Given the description of an element on the screen output the (x, y) to click on. 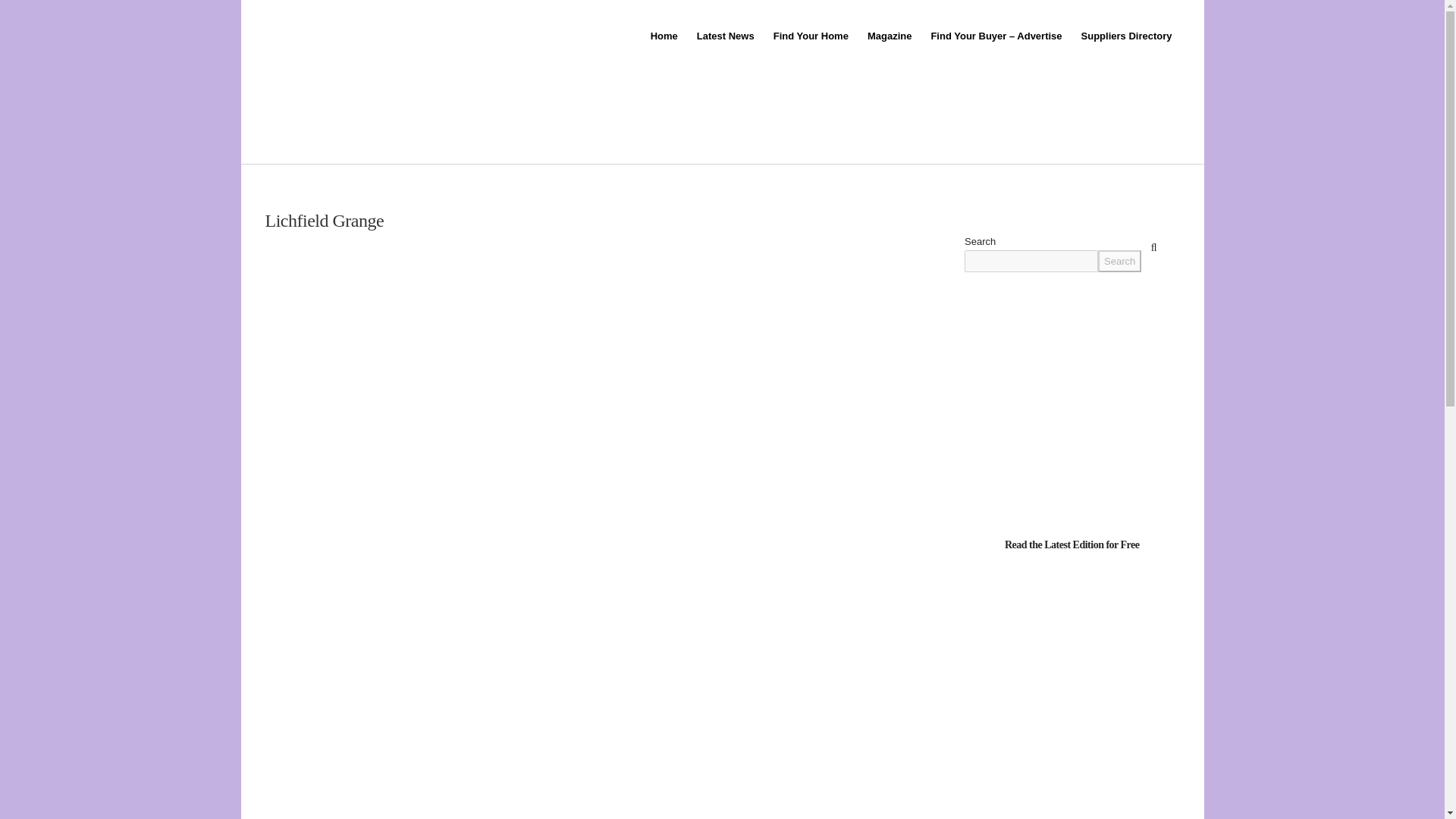
Magazine (888, 36)
Search (1119, 260)
Latest News (724, 36)
Home (662, 36)
Read the Latest Edition for Free (1072, 543)
Find Your Home (809, 36)
Suppliers Directory (1125, 36)
